Given the description of an element on the screen output the (x, y) to click on. 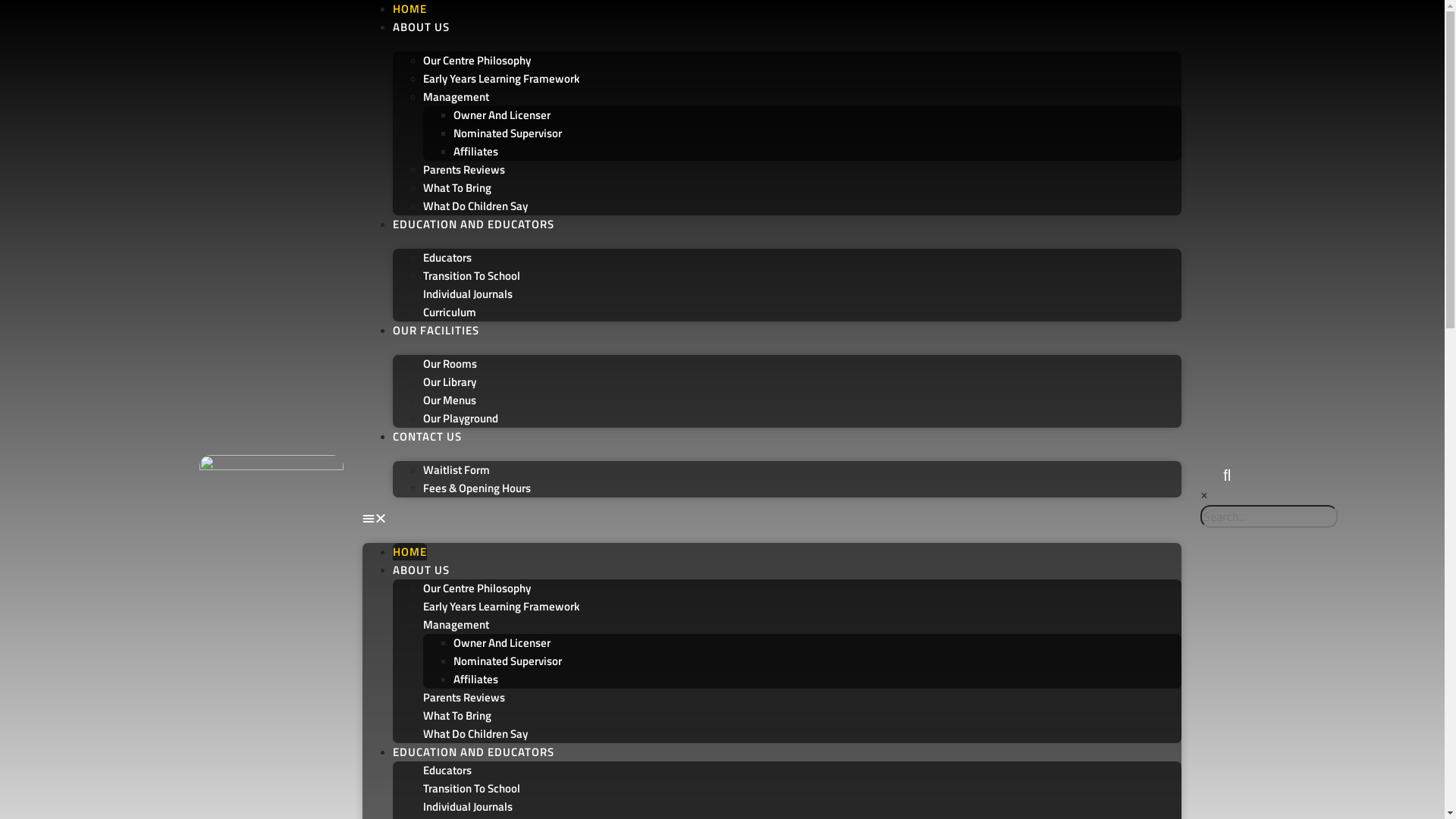
Transition To School Element type: text (471, 788)
What To Bring Element type: text (457, 715)
Affiliates Element type: text (475, 678)
What Do Children Say Element type: text (475, 205)
What To Bring Element type: text (457, 187)
Our Menus Element type: text (449, 399)
OUR FACILITIES Element type: text (435, 329)
Parents Reviews Element type: text (464, 169)
HOME Element type: text (409, 551)
CONTACT US Element type: text (426, 436)
Our Rooms Element type: text (449, 363)
Our Centre Philosophy Element type: text (476, 587)
ABOUT US Element type: text (420, 26)
Our Library Element type: text (449, 381)
Nominated Supervisor Element type: text (507, 132)
Educators Element type: text (447, 769)
Early Years Learning Framework Element type: text (501, 78)
Fees & Opening Hours Element type: text (476, 487)
Curriculum Element type: text (449, 311)
Affiliates Element type: text (475, 151)
EDUCATION AND EDUCATORS Element type: text (473, 223)
Owner And Licenser Element type: text (501, 642)
Owner And Licenser Element type: text (501, 114)
Individual Journals Element type: text (467, 806)
Management Element type: text (456, 624)
Our Playground Element type: text (460, 417)
ABOUT US Element type: text (420, 569)
Our Centre Philosophy Element type: text (476, 60)
Transition To School Element type: text (471, 275)
Waitlist Form Element type: text (456, 469)
Early Years Learning Framework Element type: text (501, 606)
Educators Element type: text (447, 257)
Management Element type: text (456, 96)
HOME Element type: text (409, 8)
EDUCATION AND EDUCATORS Element type: text (473, 751)
Nominated Supervisor Element type: text (507, 660)
Individual Journals Element type: text (467, 293)
What Do Children Say Element type: text (475, 733)
Parents Reviews Element type: text (464, 697)
